Given the description of an element on the screen output the (x, y) to click on. 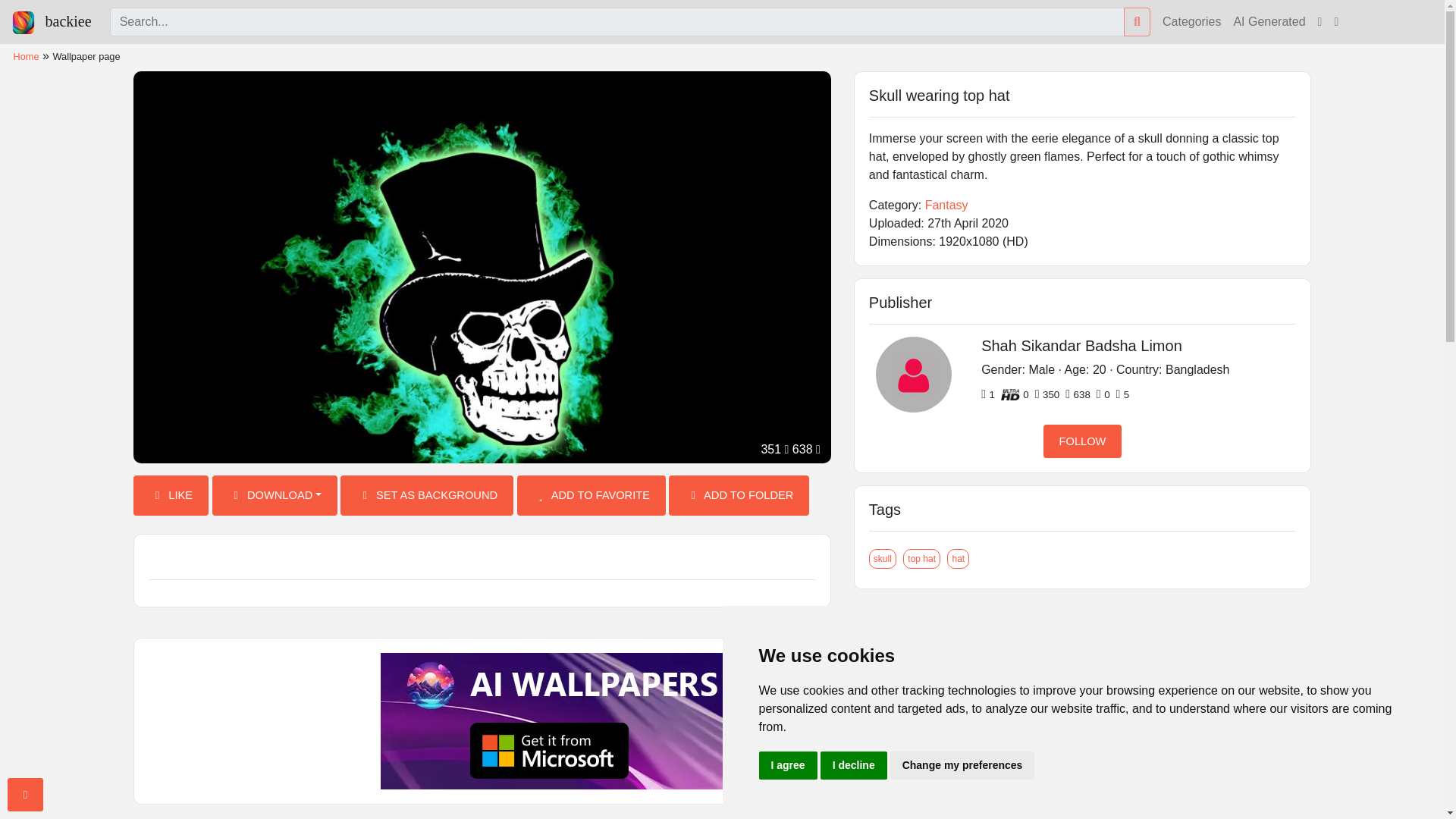
AI Generated (1269, 21)
skull (882, 558)
SET AS BACKGROUND (426, 495)
I agree (787, 765)
Change my preferences (962, 765)
backiee (51, 21)
Fantasy (946, 205)
I decline (853, 765)
ADD TO FOLDER (738, 495)
LIKE (170, 495)
